Given the description of an element on the screen output the (x, y) to click on. 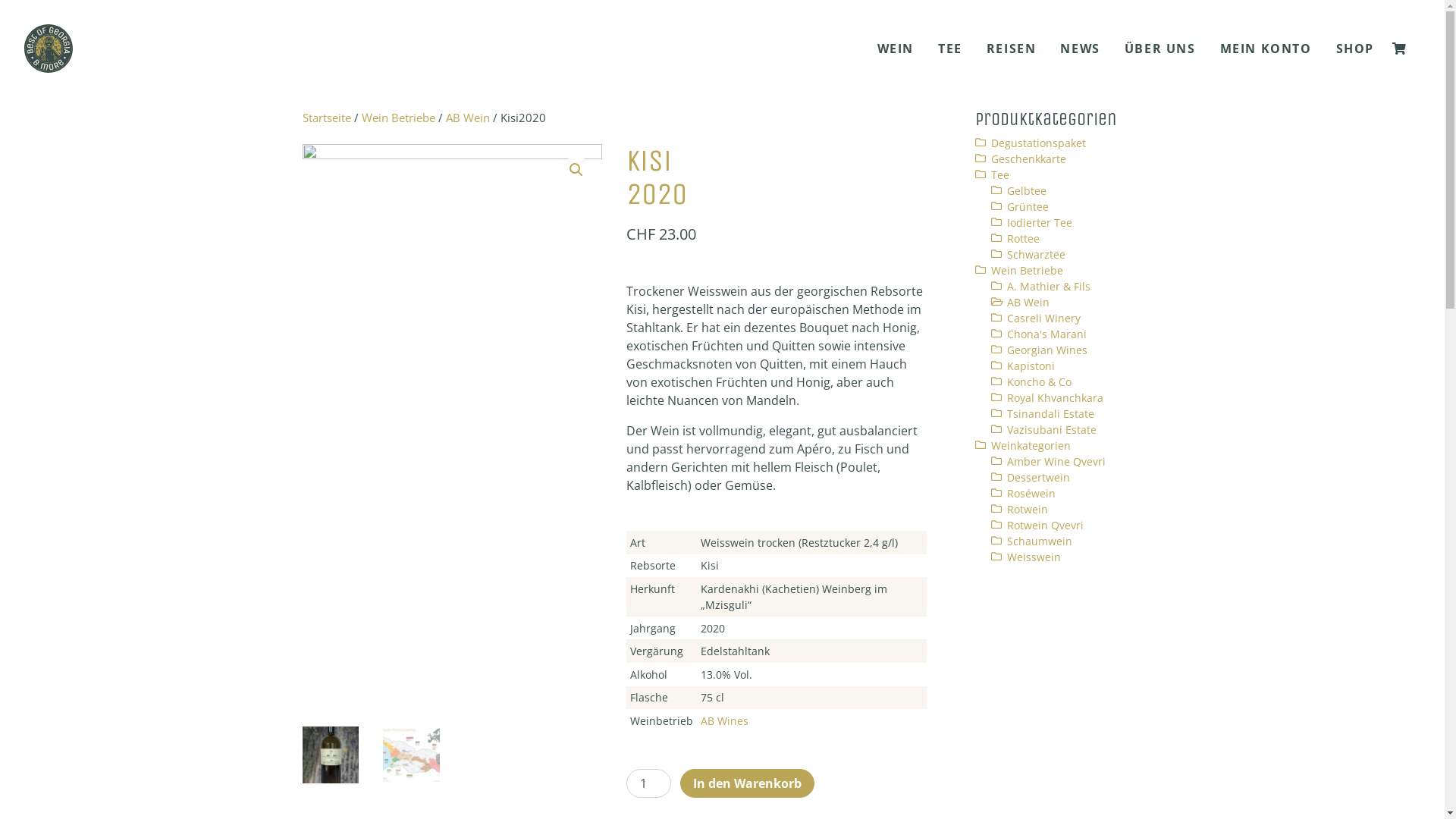
Schwarztee Element type: text (1036, 254)
Koncho & Co Element type: text (1039, 381)
Rotwein Qvevri Element type: text (1045, 524)
Rottee Element type: text (1023, 238)
SHOP Element type: text (1355, 48)
Royal Khvanchkara Element type: text (1055, 397)
Wein Betriebe Element type: text (1026, 270)
Schaumwein Element type: text (1039, 540)
bog_winegrowing-regions_Kardenakhi-Kachetien_web Element type: hover (751, 249)
Vazisubani Estate Element type: text (1051, 429)
View your shopping cart Element type: hover (1403, 48)
NEWS Element type: text (1079, 48)
MEIN KONTO Element type: text (1266, 48)
Iodierter Tee Element type: text (1039, 222)
Startseite Element type: text (325, 117)
In den Warenkorb Element type: text (747, 782)
REISEN Element type: text (1011, 48)
AB Wines Element type: text (724, 720)
Degustationspaket Element type: text (1037, 142)
Amber Wine Qvevri Element type: text (1056, 461)
WEIN Element type: text (895, 48)
Tee Element type: text (999, 174)
Weinkategorien Element type: text (1030, 445)
Chona's Marani Element type: text (1046, 333)
Georgian Wines Element type: text (1047, 349)
Wein Betriebe Element type: text (397, 117)
ab-wines_kisi-2020 Element type: hover (451, 423)
AB Wein Element type: text (467, 117)
Geschenkkarte Element type: text (1027, 158)
AB Wein Element type: text (1028, 301)
Casreli Winery Element type: text (1043, 317)
Dessertwein Element type: text (1038, 477)
Weisswein Element type: text (1033, 556)
A. Mathier & Fils Element type: text (1048, 286)
Rotwein Element type: text (1027, 509)
Tsinandali Estate Element type: text (1050, 413)
Kapistoni Element type: text (1030, 365)
TEE Element type: text (949, 48)
Gelbtee Element type: text (1026, 190)
